Given the description of an element on the screen output the (x, y) to click on. 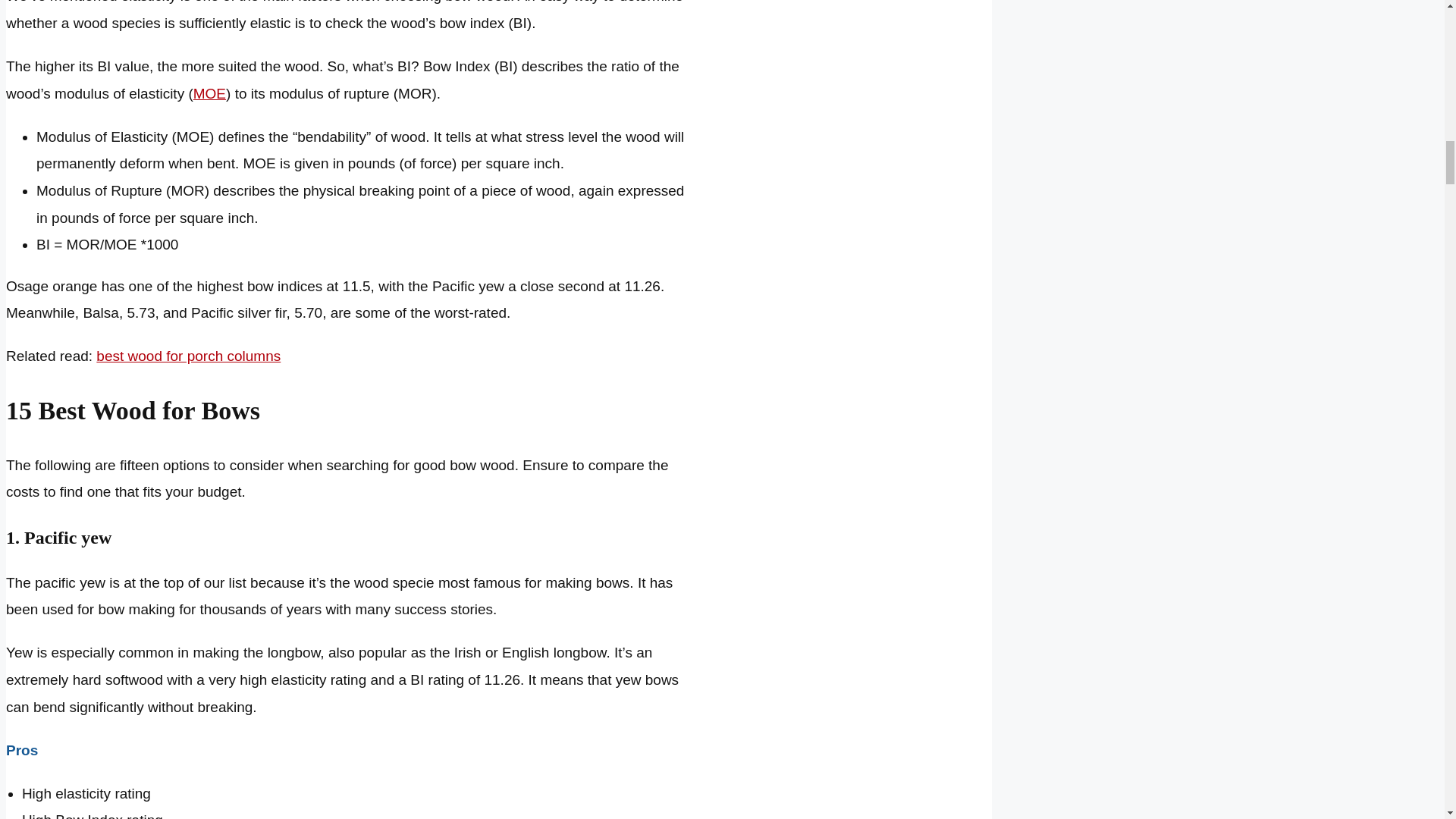
best wood for porch columns (188, 355)
MOE (209, 93)
